Given the description of an element on the screen output the (x, y) to click on. 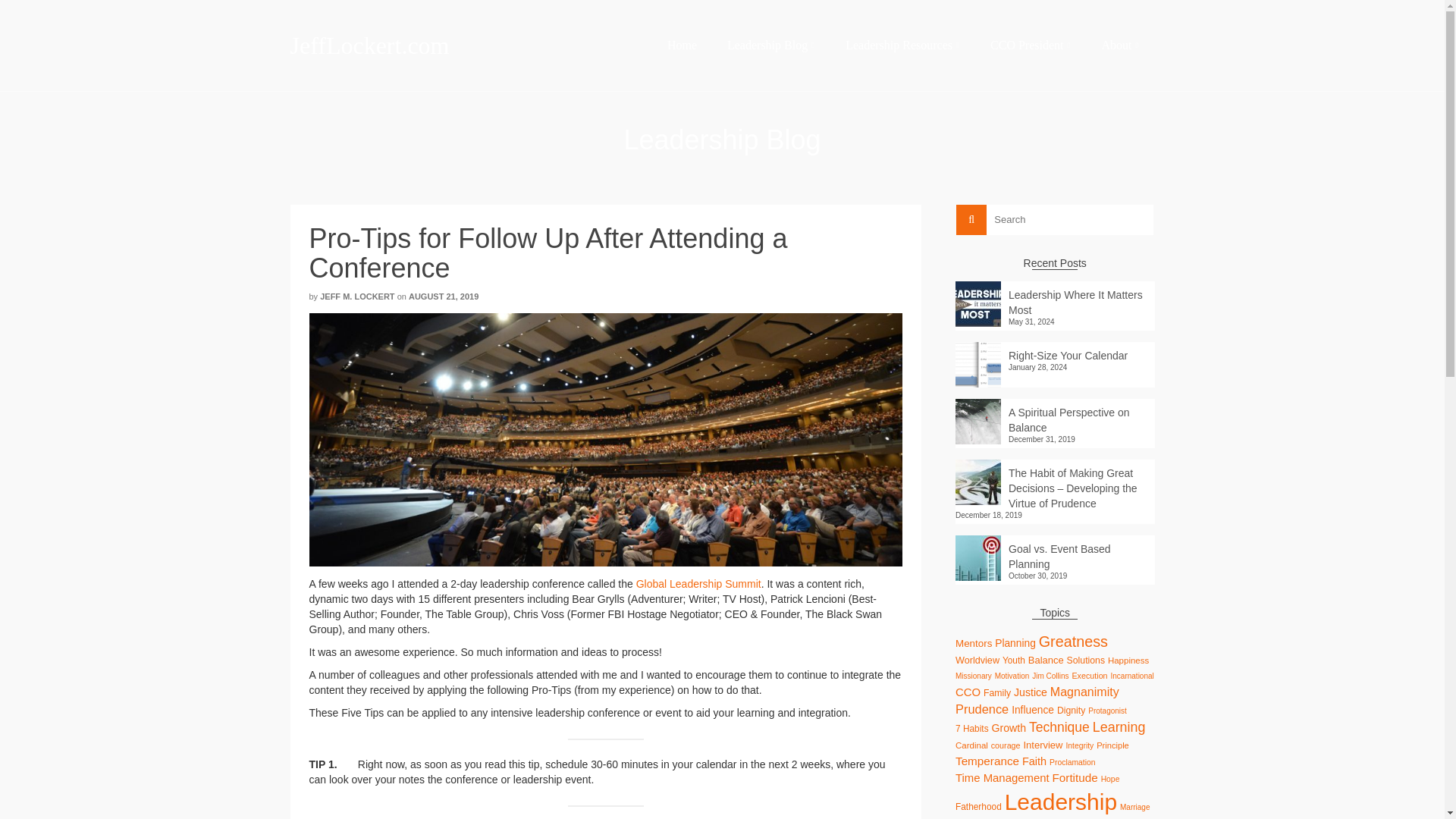
JeffLockert.com (425, 45)
Leadership Blog (770, 45)
Leadership Resources (902, 45)
CCO President (1030, 45)
Leadership Where It Matters Most (1054, 299)
A Spiritual Perspective on Balance (1054, 416)
Right-Size Your Calendar (1054, 352)
